Given the description of an element on the screen output the (x, y) to click on. 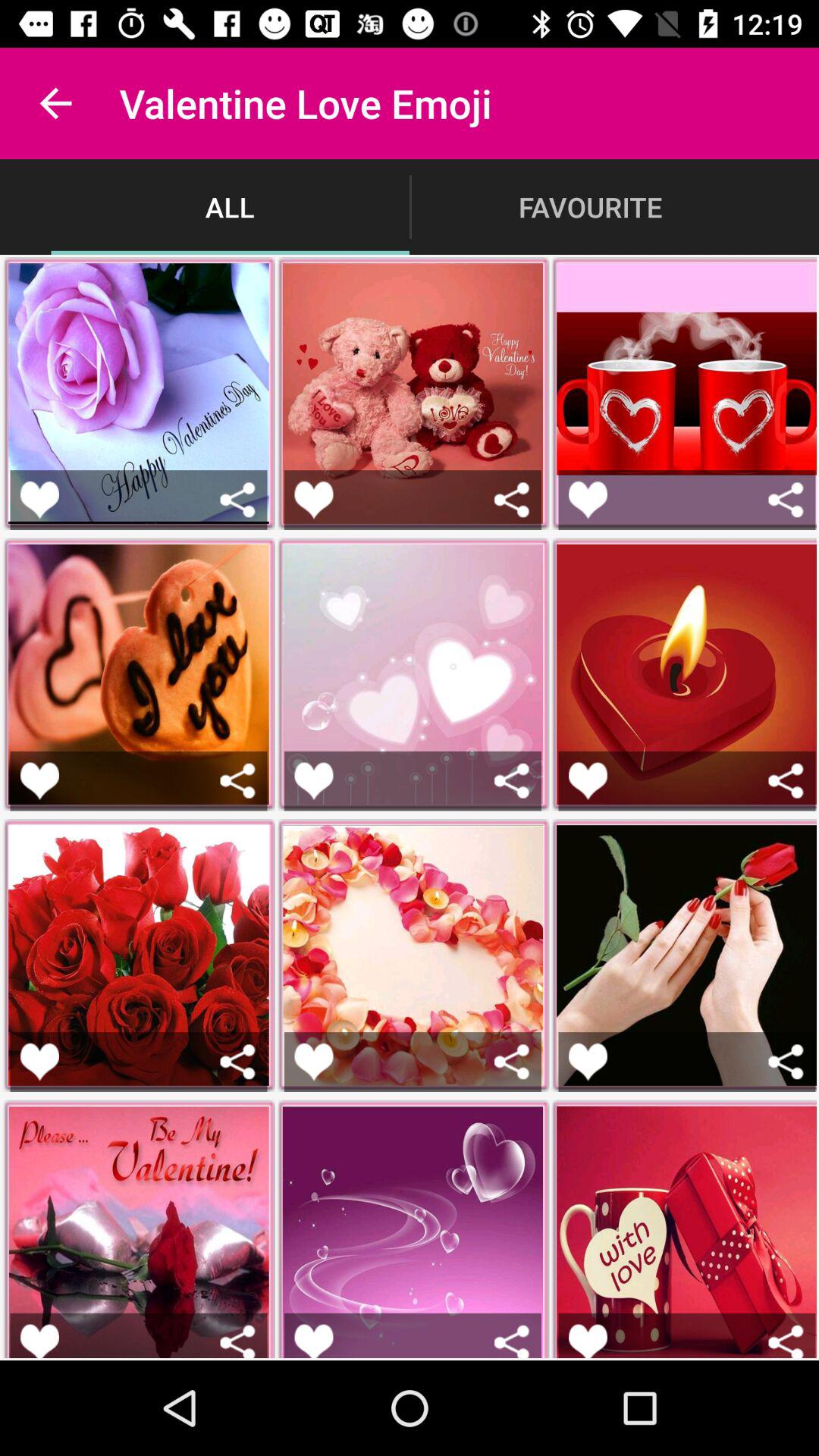
share button (511, 499)
